Given the description of an element on the screen output the (x, y) to click on. 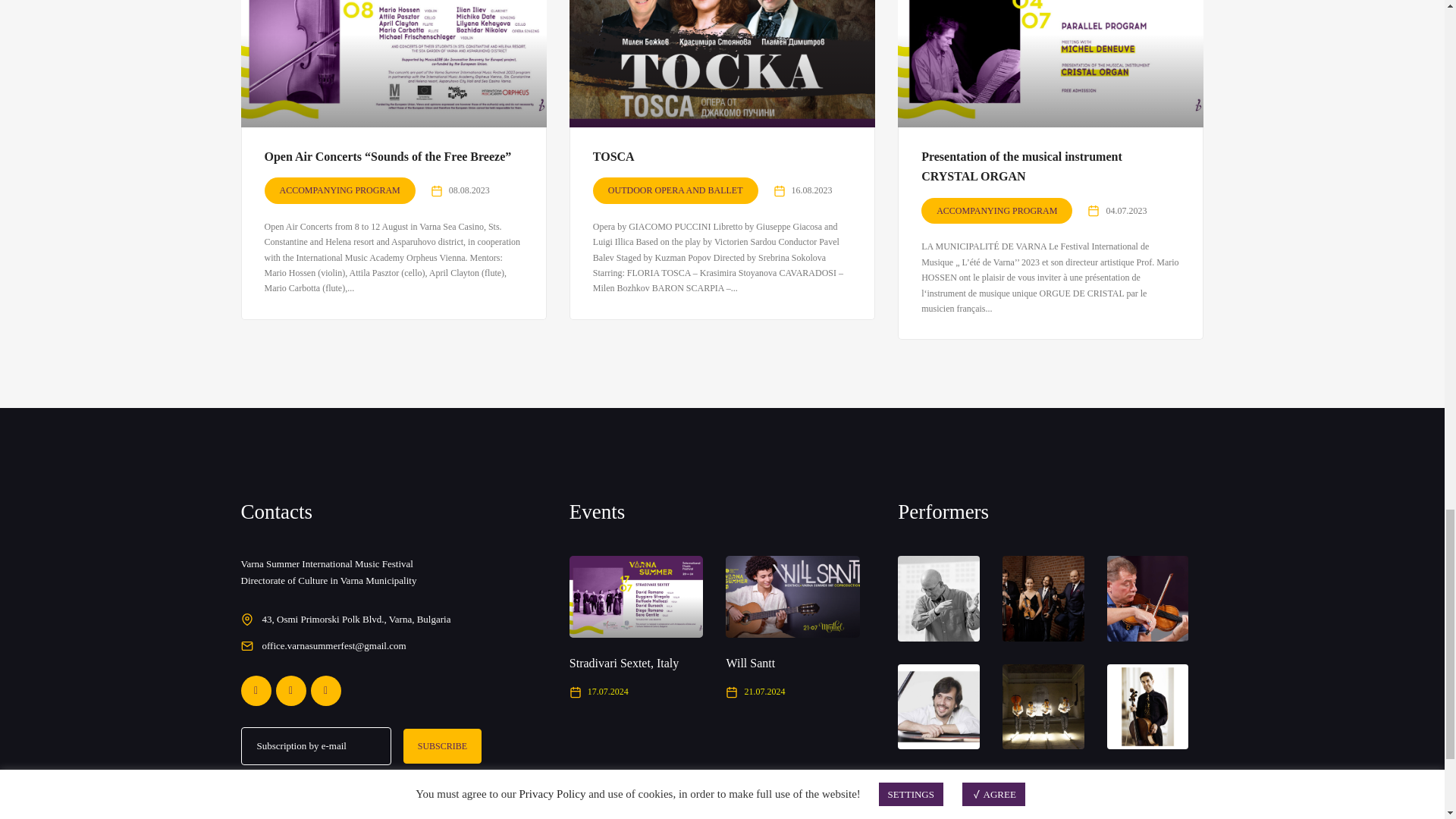
Subscribe (442, 745)
subscribe (245, 776)
